Given the description of an element on the screen output the (x, y) to click on. 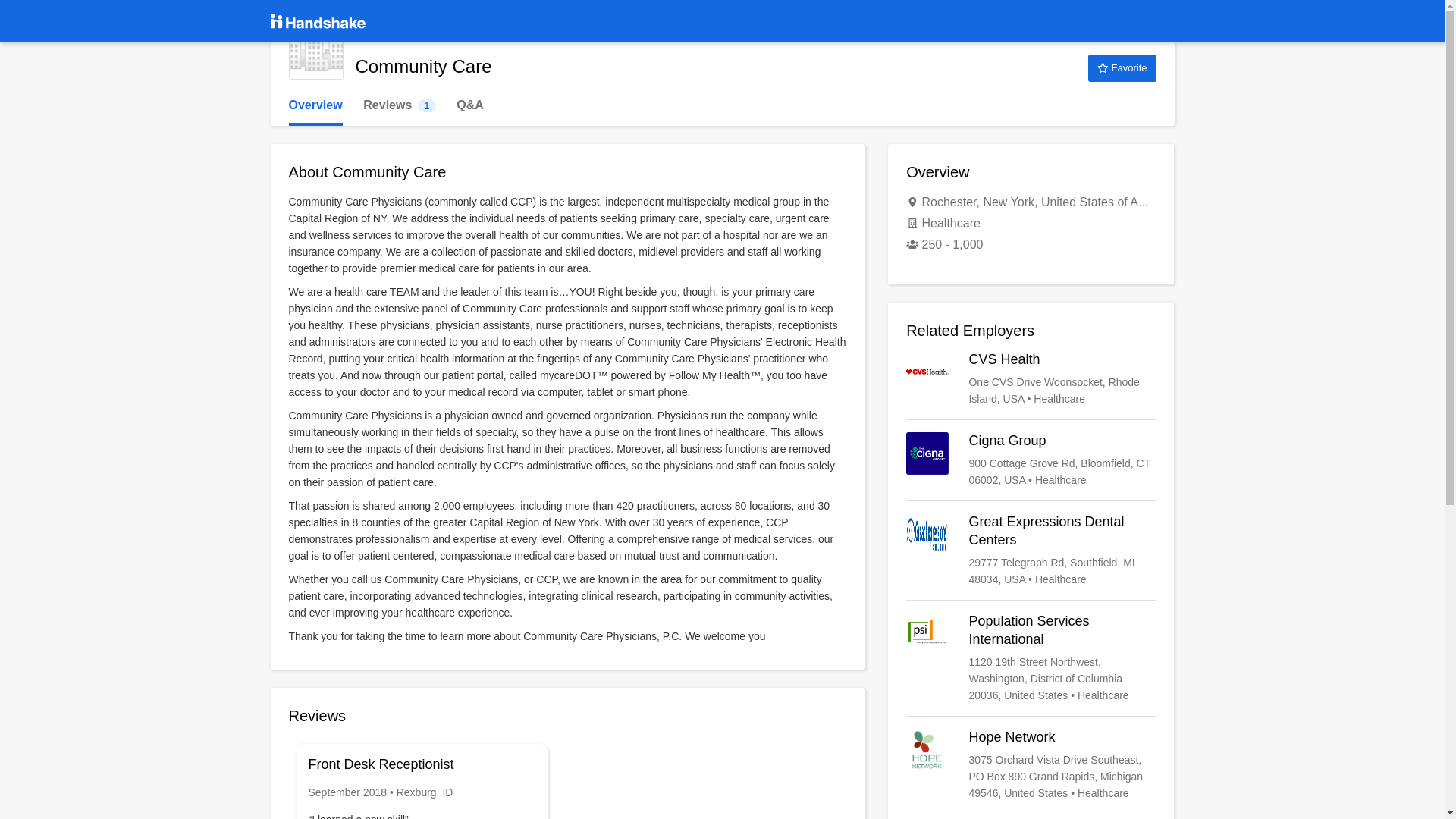
Overview (315, 105)
Community Care (315, 52)
Population Services International (1030, 657)
Hope Network (1030, 764)
Great Expressions Dental Centers (1030, 550)
Cigna Group (398, 105)
CVS Health (1030, 460)
Favorite (1030, 379)
